Given the description of an element on the screen output the (x, y) to click on. 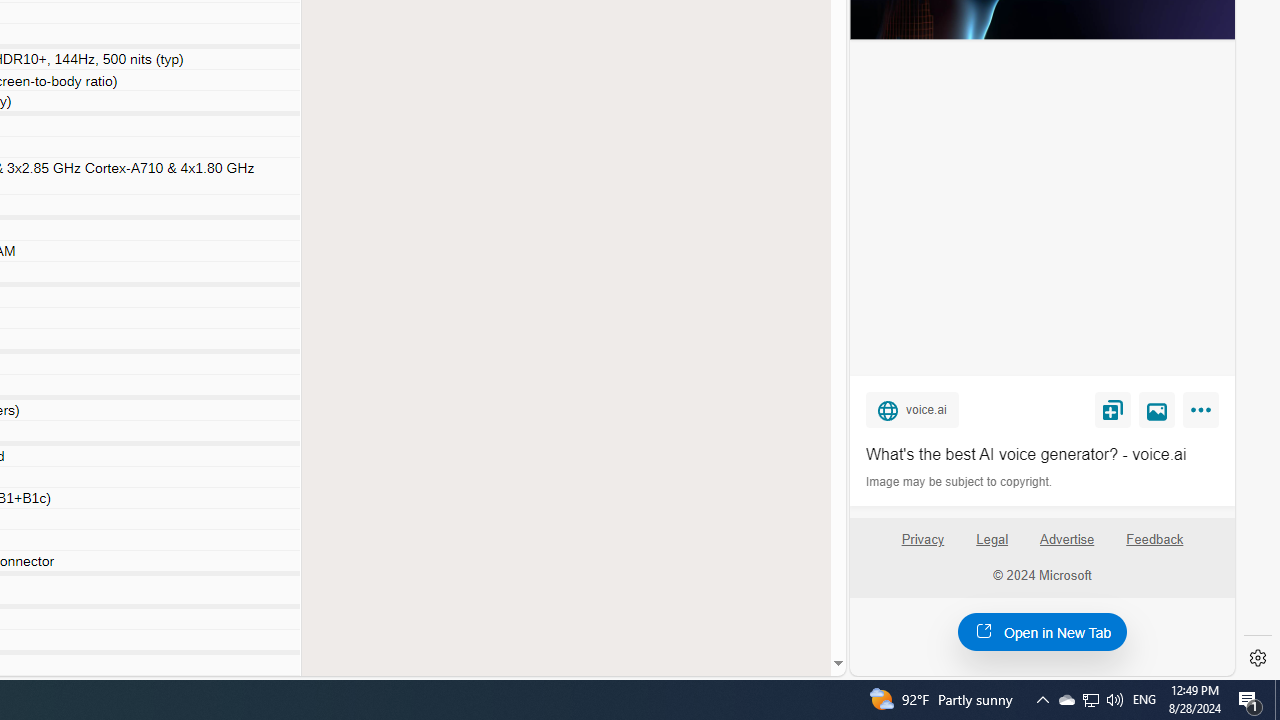
Legal (992, 547)
Privacy (922, 539)
Legal (991, 539)
Image may be subject to copyright. (959, 481)
Feedback (1155, 539)
voice.ai (912, 409)
Advertise (1066, 539)
More (1204, 413)
Save (1112, 409)
Settings (1258, 658)
Advertise (1067, 547)
Feedback (1154, 547)
Open in New Tab (1042, 631)
